Given the description of an element on the screen output the (x, y) to click on. 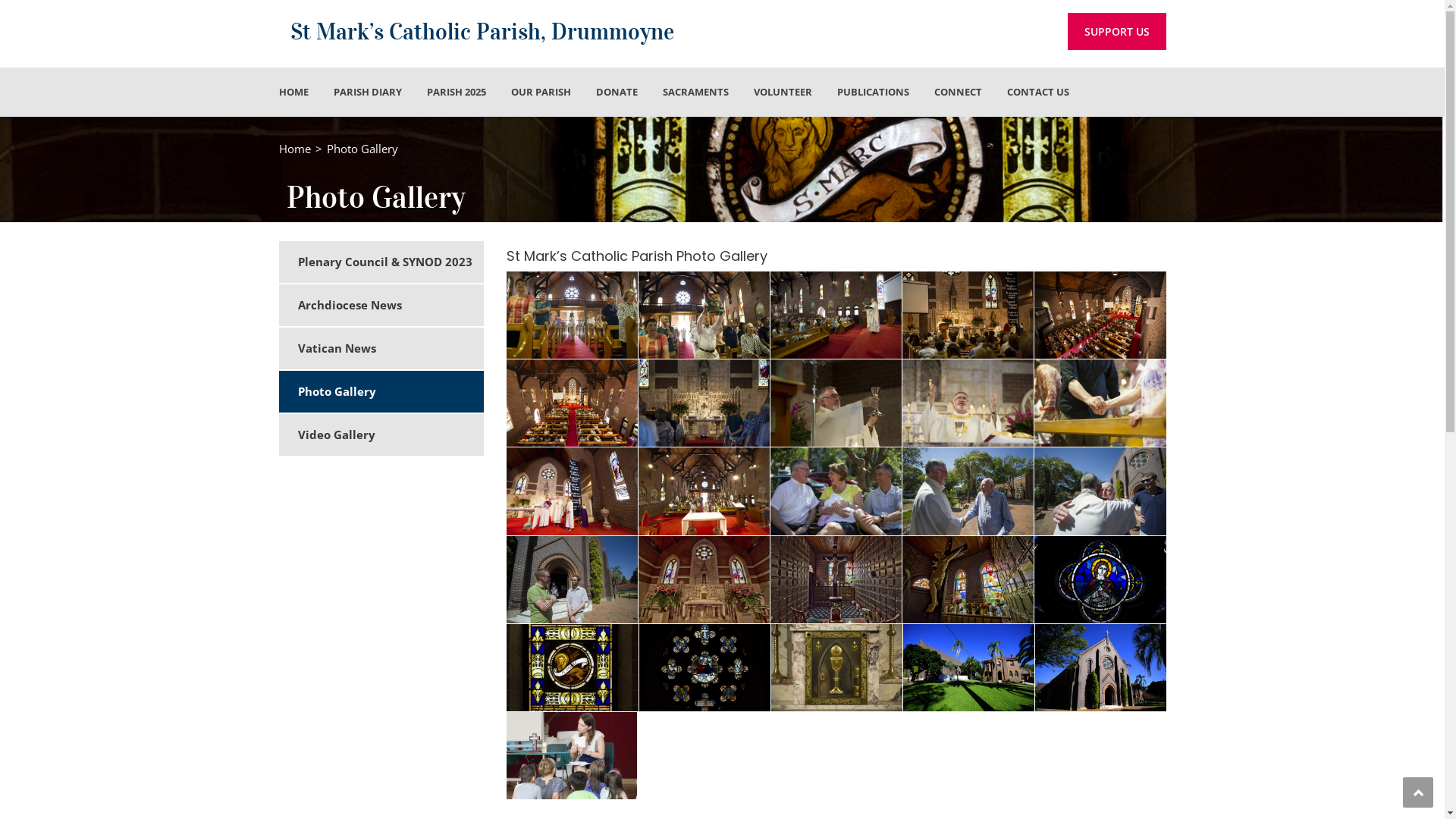
SACRAMENTS Element type: text (695, 91)
VOLUNTEER Element type: text (782, 91)
St Mark's Catholic Parish Photo Gallery Element type: hover (571, 314)
Search Element type: text (1144, 160)
Plenary Council & SYNOD 2023 Element type: text (390, 261)
PARISH DIARY Element type: text (367, 91)
SUPPORT US Element type: text (1116, 31)
CONTACT US Element type: text (1038, 91)
Video Gallery Element type: text (390, 434)
OUR PARISH Element type: text (541, 91)
PUBLICATIONS Element type: text (873, 91)
St Mark's Catholic Parish Photo Gallery Element type: hover (703, 314)
Vatican News Element type: text (390, 348)
Home Element type: text (294, 148)
Archdiocese News Element type: text (390, 305)
PARISH 2025 Element type: text (455, 91)
HOME Element type: text (293, 91)
CONNECT Element type: text (958, 91)
DONATE Element type: text (616, 91)
Photo Gallery Element type: text (390, 391)
